Given the description of an element on the screen output the (x, y) to click on. 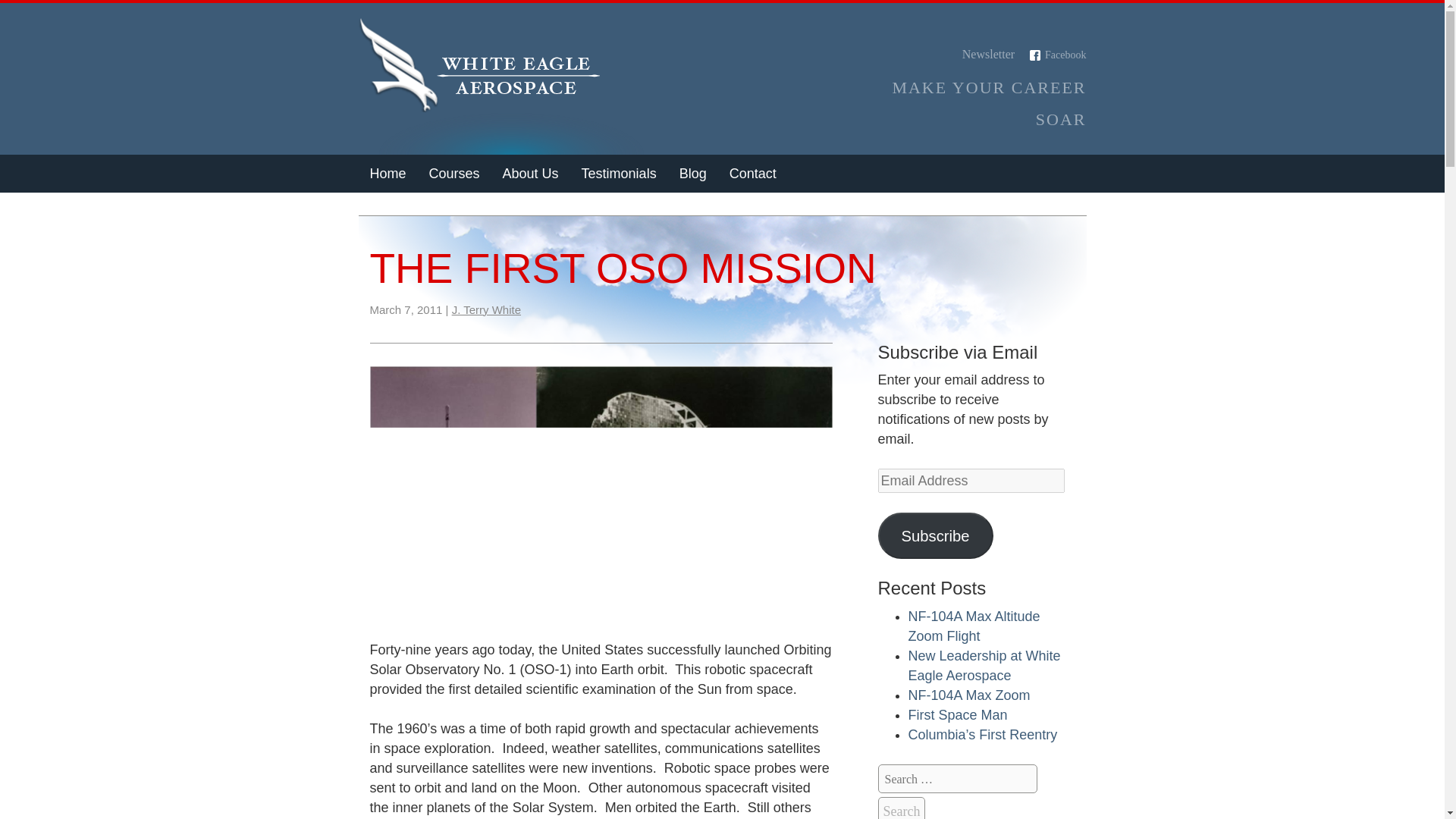
Contact (752, 173)
New Leadership at White Eagle Aerospace (984, 665)
Courses (454, 173)
Facebook (1057, 54)
Home (387, 173)
Facebook (1057, 54)
NF-104A Max Altitude Zoom Flight (974, 626)
Testimonials (619, 173)
NF-104A Max Zoom (969, 694)
Newsletter (978, 53)
About Us (531, 173)
Newsletter (978, 53)
Blog (692, 173)
First Space Man (957, 714)
OSO-1 (600, 485)
